Given the description of an element on the screen output the (x, y) to click on. 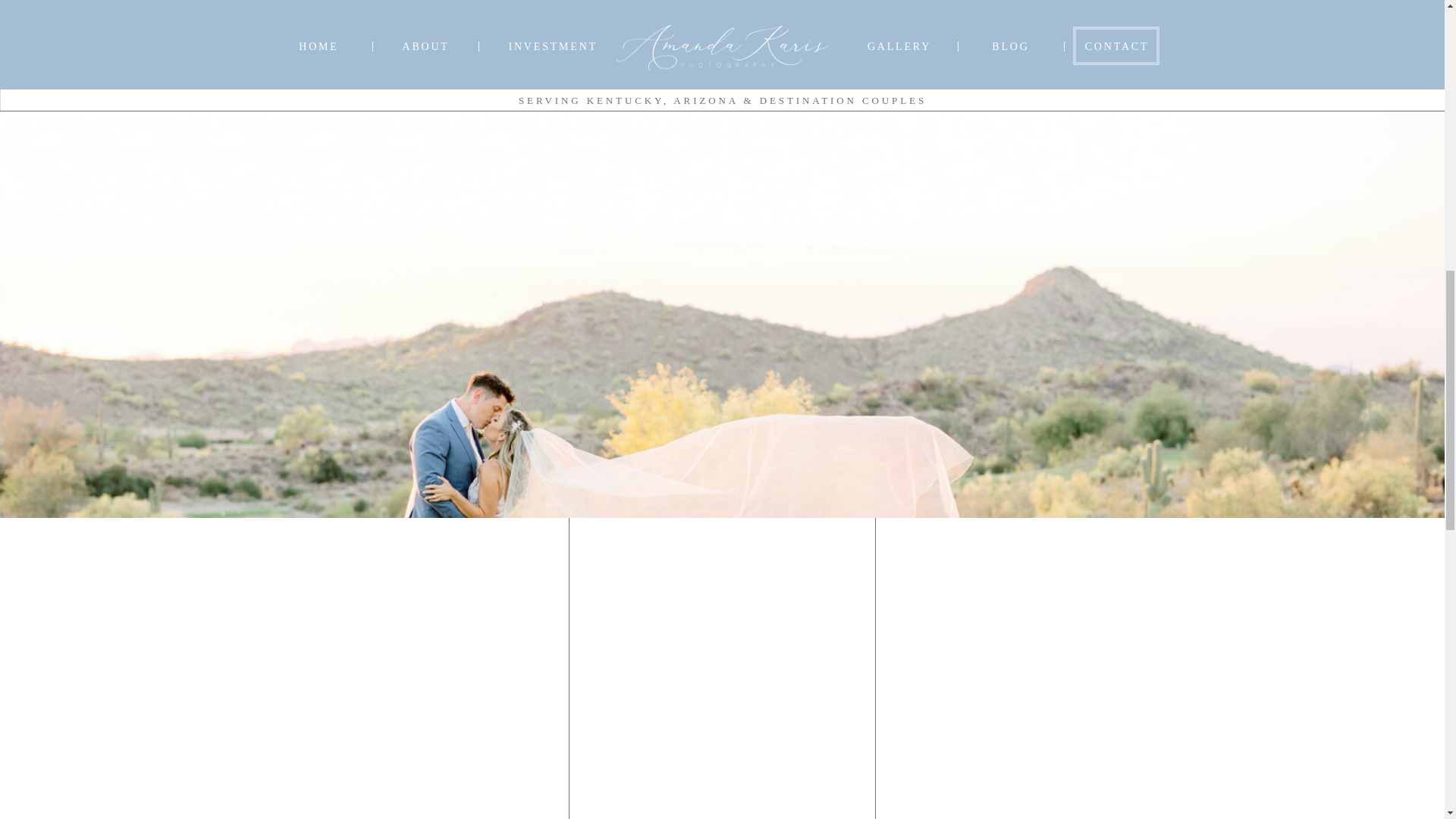
Planning Your Sustainable Wedding (415, 78)
READ MORE (415, 356)
Planning Your Sustainable Wedding (414, 201)
Planning Your Sustainable Wedding (415, 356)
